Given the description of an element on the screen output the (x, y) to click on. 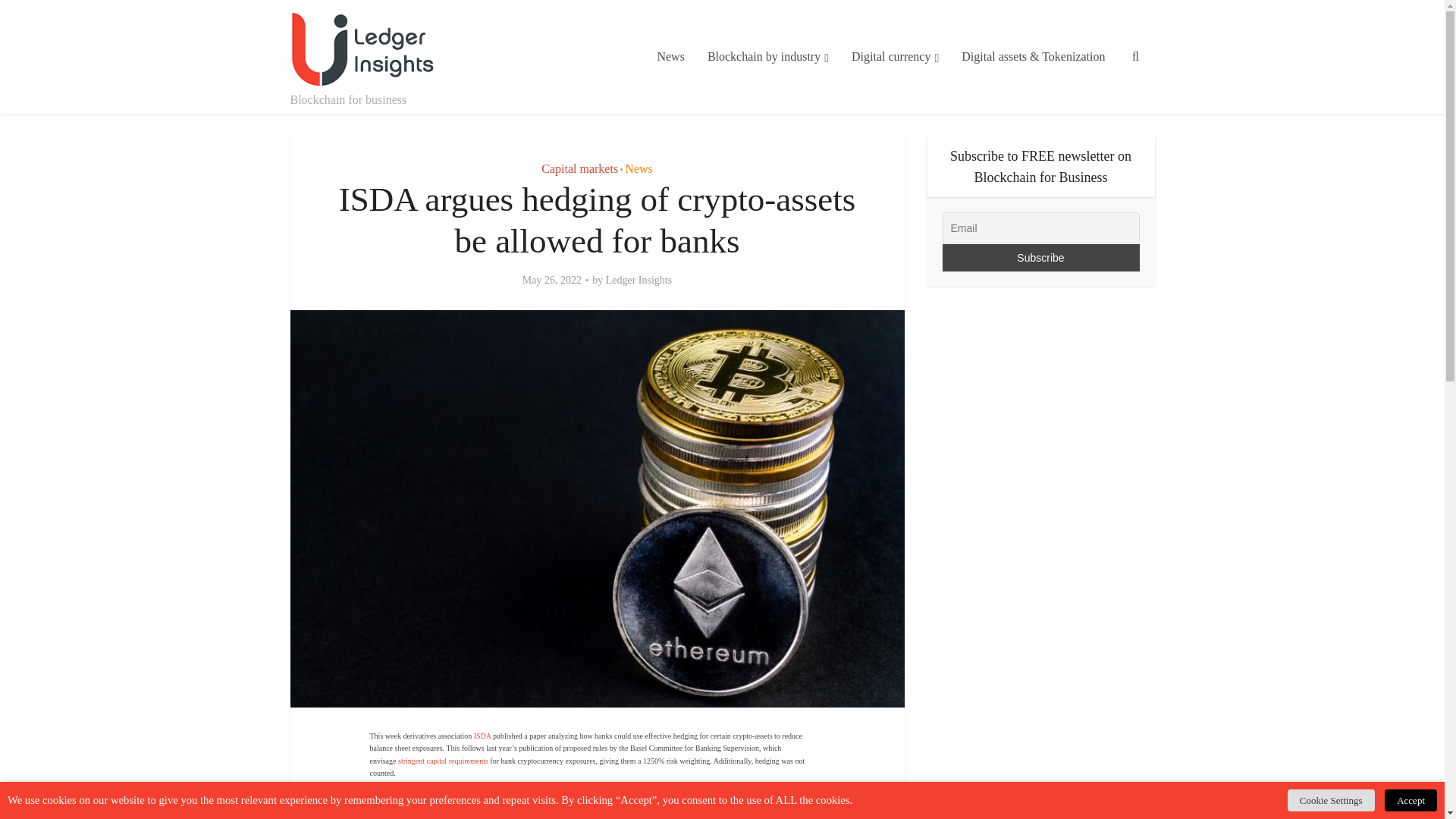
Subscribe (1040, 257)
Digital currency (895, 56)
Blockchain by industry (767, 56)
